Given the description of an element on the screen output the (x, y) to click on. 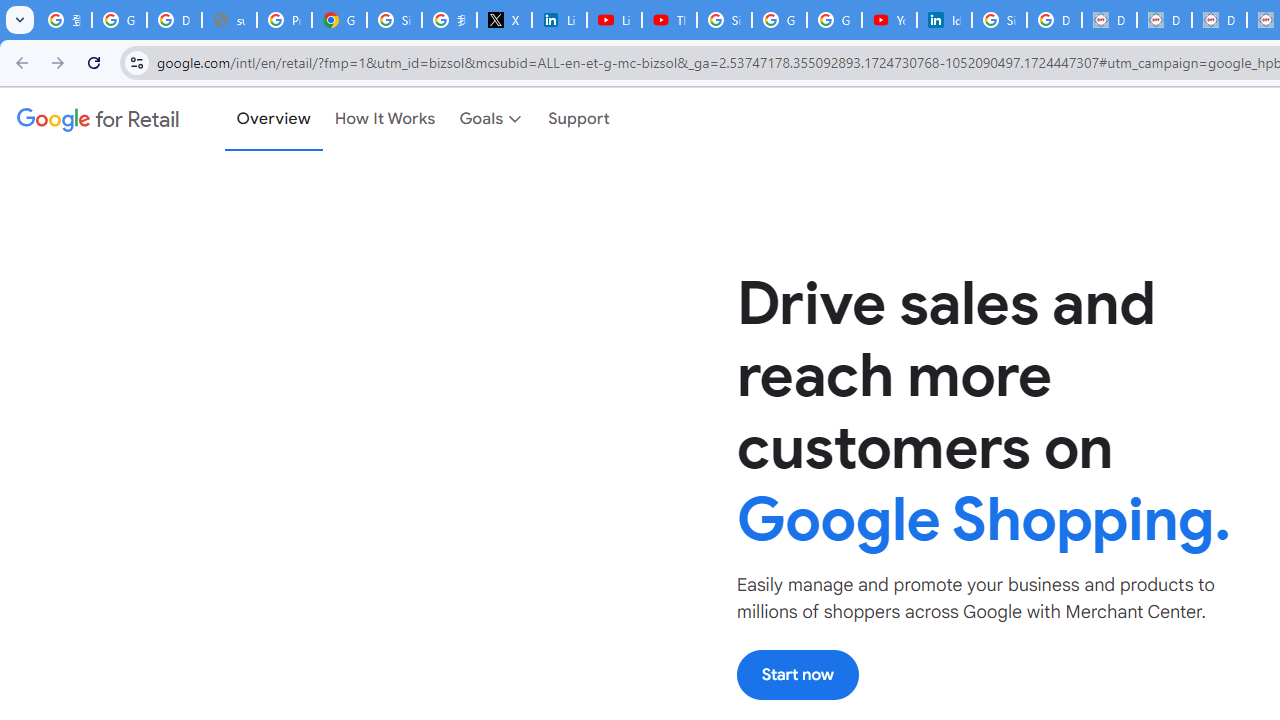
Support (579, 119)
Start now (797, 673)
How It Works (385, 119)
Sign in - Google Accounts (998, 20)
Google for Retail (98, 119)
Goals (491, 119)
X (504, 20)
